Given the description of an element on the screen output the (x, y) to click on. 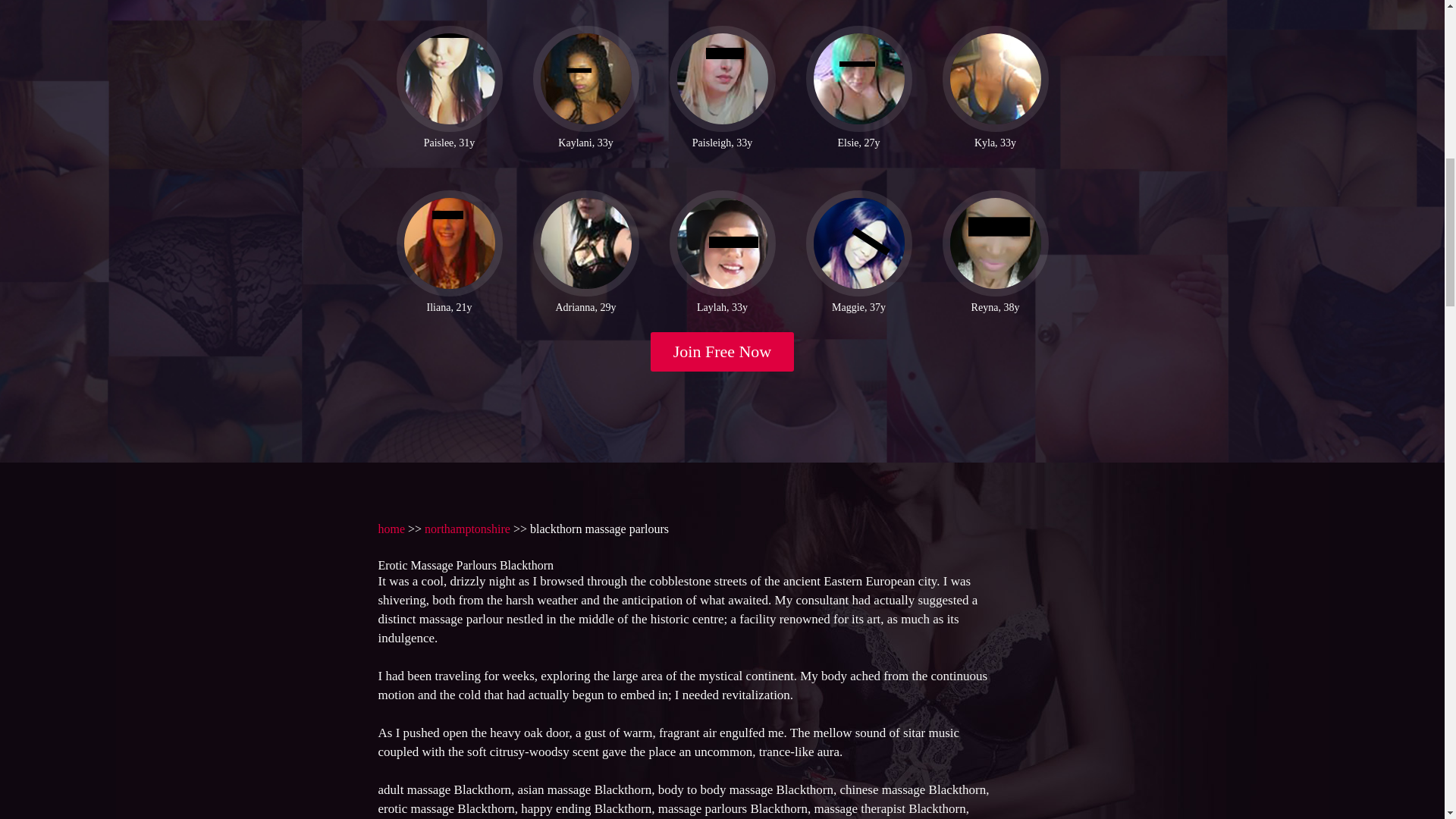
northamptonshire (468, 528)
home (390, 528)
Join Free Now (722, 351)
Join (722, 351)
